Given the description of an element on the screen output the (x, y) to click on. 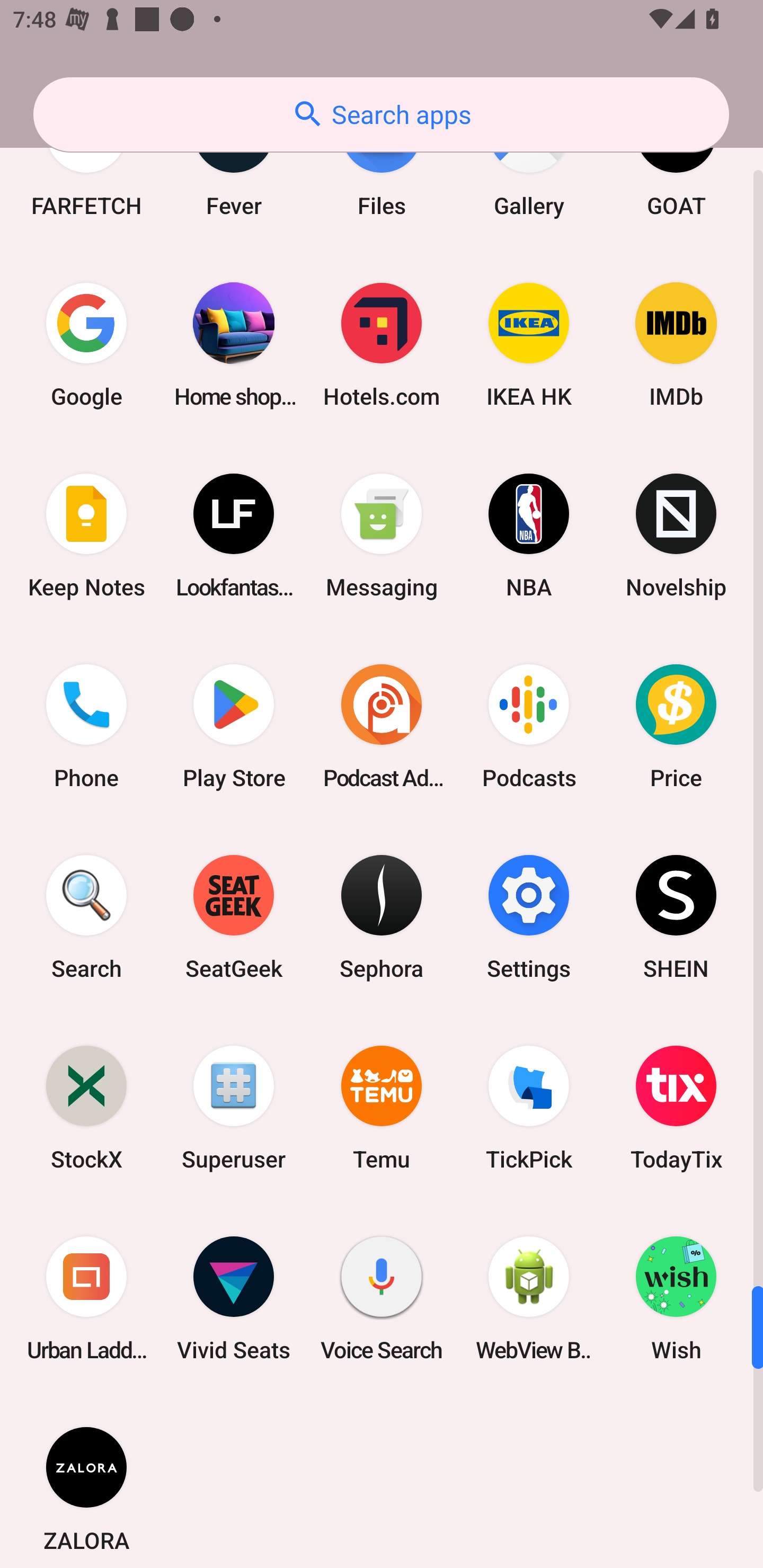
  Search apps (381, 114)
Google (86, 344)
Home shopping (233, 344)
Hotels.com (381, 344)
IKEA HK (528, 344)
IMDb (676, 344)
Keep Notes (86, 535)
Lookfantastic (233, 535)
Messaging (381, 535)
NBA (528, 535)
Novelship (676, 535)
Phone (86, 725)
Play Store (233, 725)
Podcast Addict (381, 725)
Podcasts (528, 725)
Price (676, 725)
Search (86, 916)
SeatGeek (233, 916)
Sephora (381, 916)
Settings (528, 916)
SHEIN (676, 916)
StockX (86, 1107)
Superuser (233, 1107)
Temu (381, 1107)
TickPick (528, 1107)
TodayTix (676, 1107)
Urban Ladder (86, 1297)
Vivid Seats (233, 1297)
Voice Search (381, 1297)
WebView Browser Tester (528, 1297)
Wish (676, 1297)
ZALORA (86, 1480)
